Given the description of an element on the screen output the (x, y) to click on. 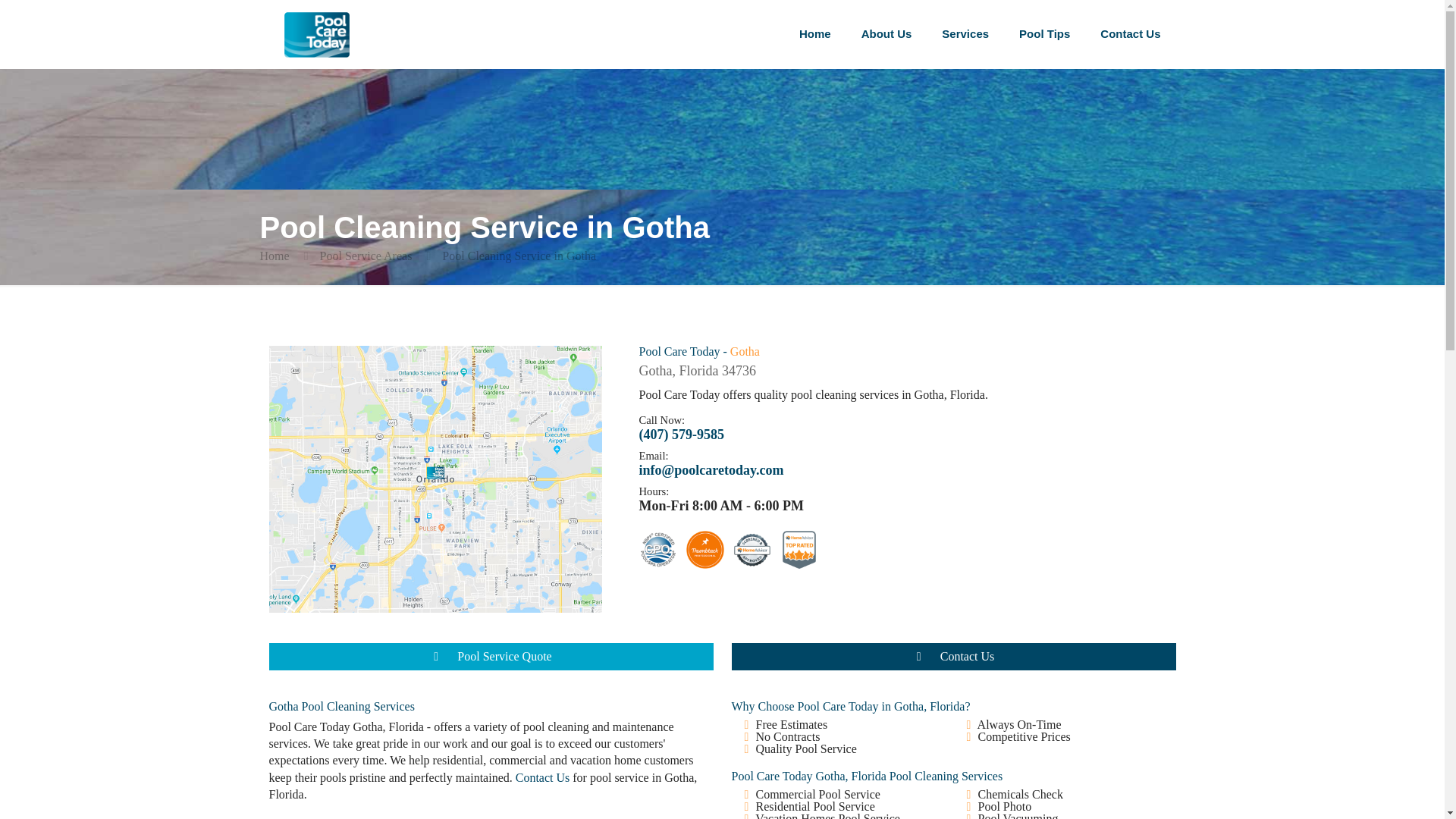
Contact Us (542, 777)
Home (273, 255)
Pool Service Quote (490, 656)
Pool Care Today (316, 33)
Services (965, 33)
Contact Us (1129, 33)
Contact Us (952, 656)
Pool Tips (1044, 33)
Pool Service Areas (366, 255)
About Us (886, 33)
